Given the description of an element on the screen output the (x, y) to click on. 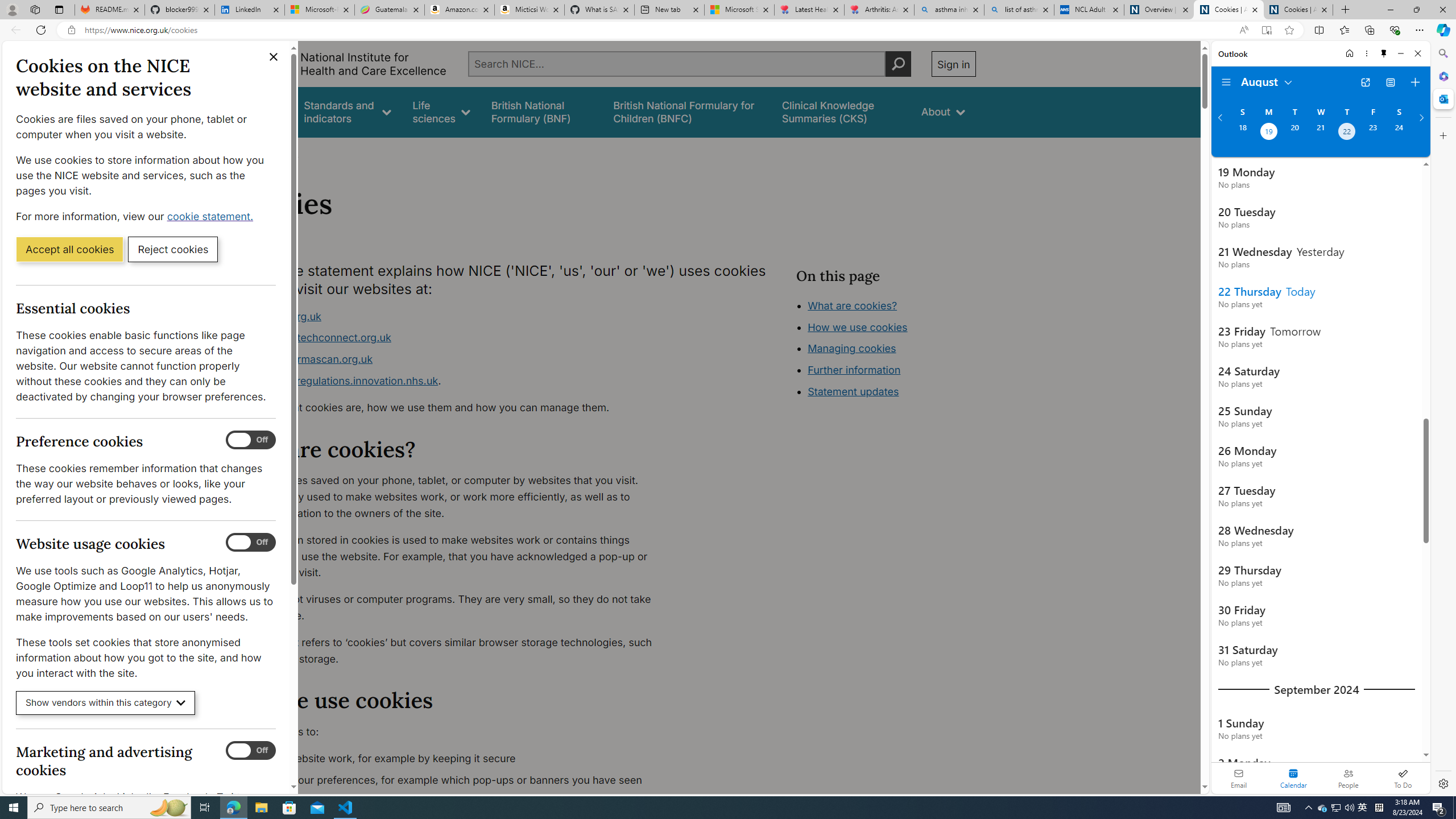
www.ukpharmascan.org.uk (305, 359)
Show vendors within this category (105, 703)
www.nice.org.uk (452, 316)
Perform search (898, 63)
Sunday, August 18, 2024.  (1242, 132)
LinkedIn (249, 9)
British National Formulary for Children (BNFC) (686, 111)
Marketing and advertising cookies (250, 750)
